Given the description of an element on the screen output the (x, y) to click on. 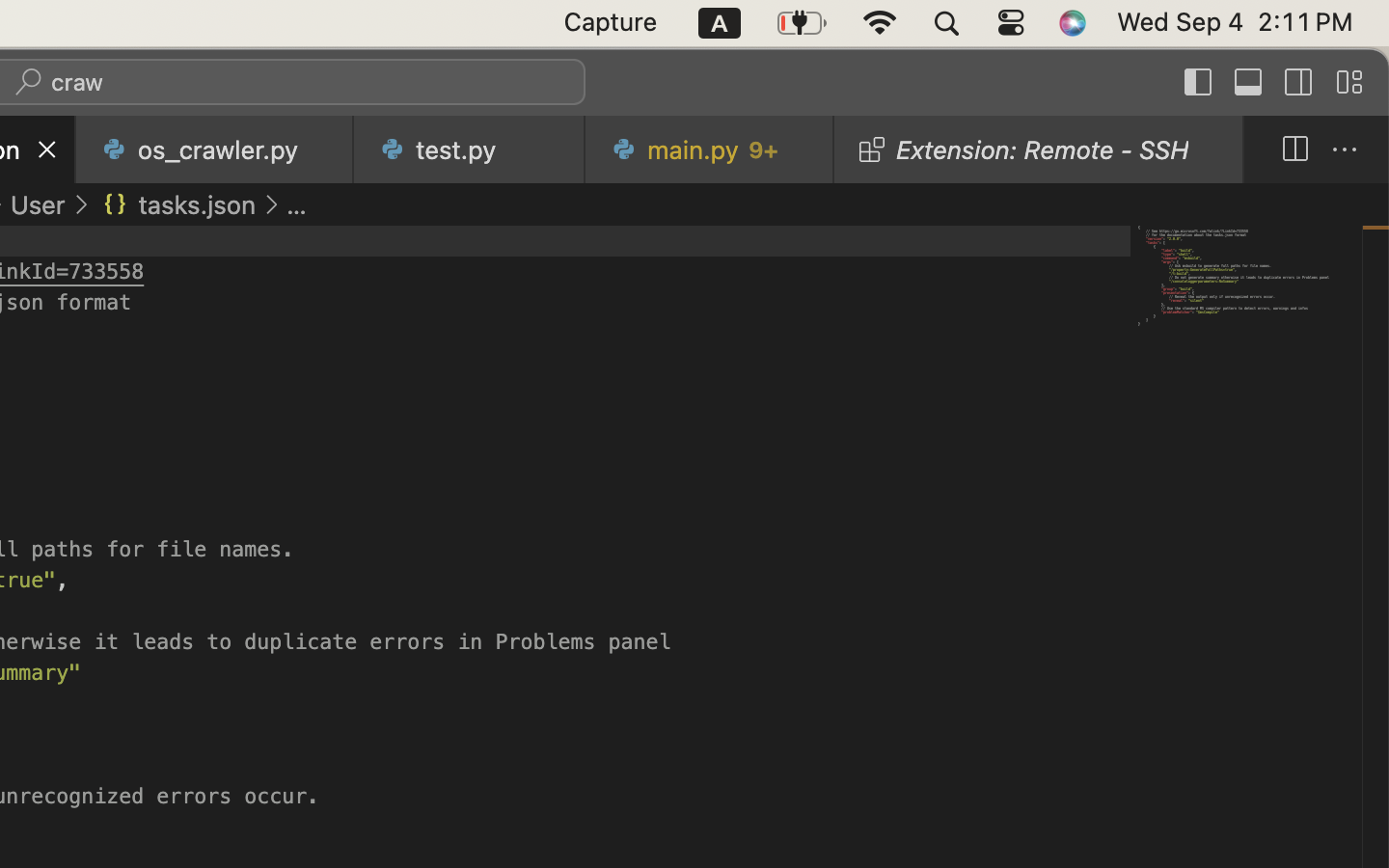
 Element type: AXCheckBox (1198, 82)
 Element type: AXButton (1349, 82)
tasks.json  Element type: AXGroup (176, 204)
 Element type: AXStaticText (80, 204)
0 main.py   9+ Element type: AXRadioButton (710, 149)
